Given the description of an element on the screen output the (x, y) to click on. 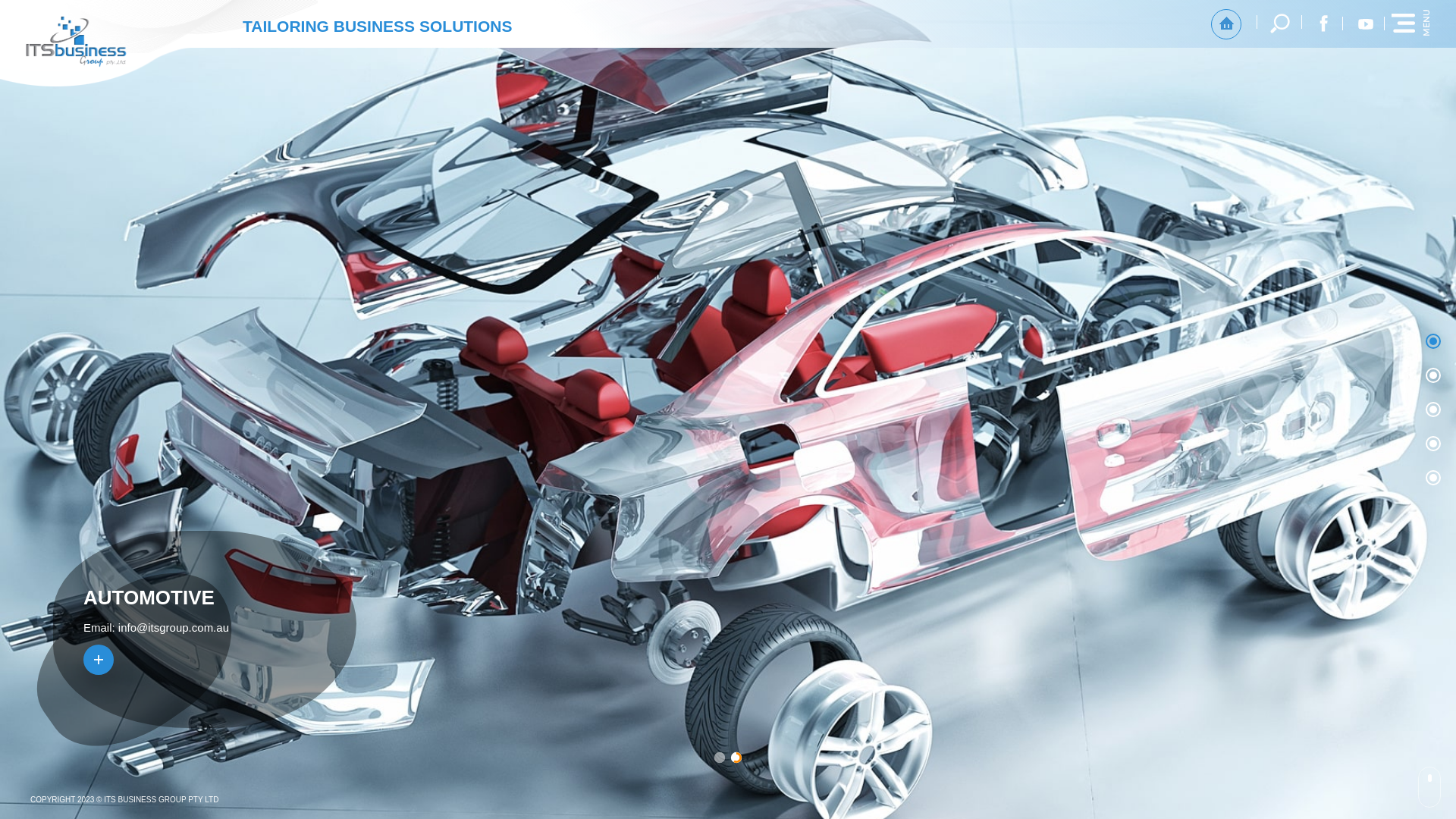
03 Element type: text (1432, 409)
Automotive Element type: hover (98, 659)
04 Element type: text (1432, 443)
01 Element type: text (1432, 340)
05 Element type: text (1432, 477)
02 Element type: text (1432, 374)
